Given the description of an element on the screen output the (x, y) to click on. 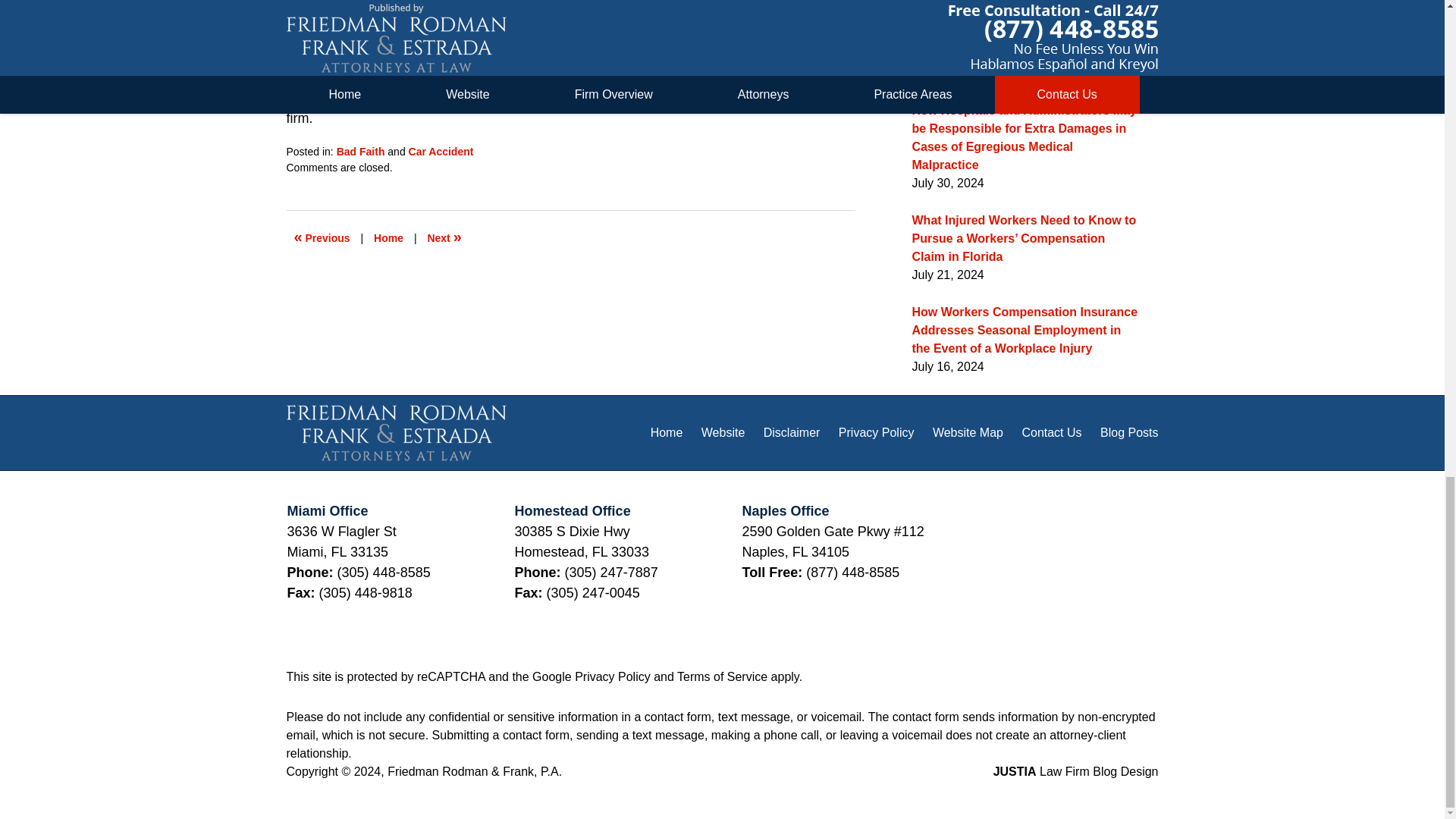
View all posts in Car Accident (441, 151)
Car Accident (441, 151)
Bad Faith (360, 151)
View all posts in Bad Faith (360, 151)
Home (388, 237)
